Given the description of an element on the screen output the (x, y) to click on. 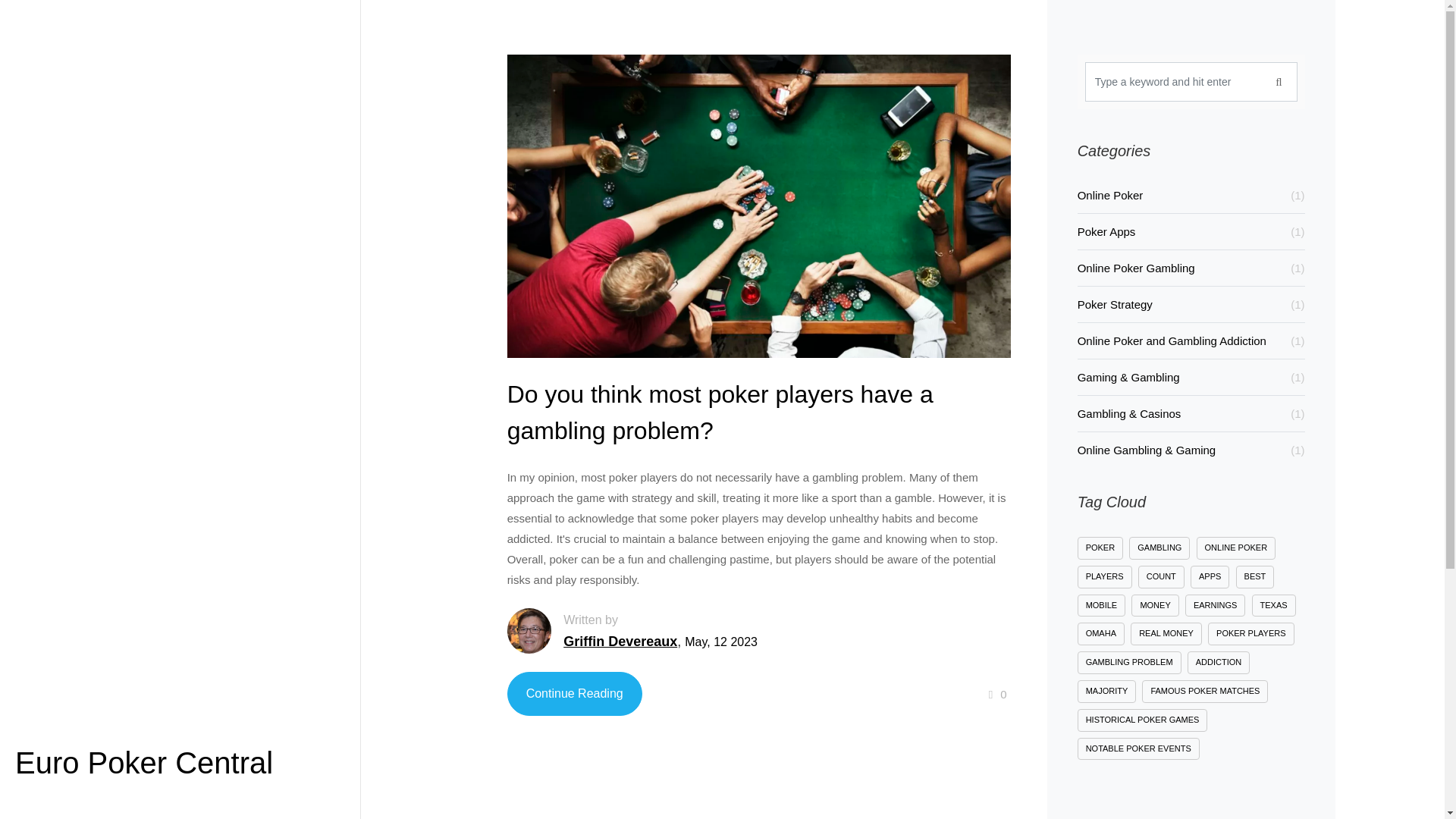
NOTABLE POKER EVENTS (1138, 748)
REAL MONEY (1166, 633)
Griffin Devereaux (620, 648)
MOBILE (1101, 605)
GAMBLING (1159, 548)
Continue Reading (574, 699)
FAMOUS POKER MATCHES (1204, 691)
HISTORICAL POKER GAMES (1142, 720)
APPS (1209, 576)
ADDICTION (1219, 662)
Do you think most poker players have a gambling problem? (574, 693)
EARNINGS (1214, 605)
ONLINE POKER (1236, 548)
GAMBLING PROBLEM (1128, 662)
POKER (1100, 548)
